Given the description of an element on the screen output the (x, y) to click on. 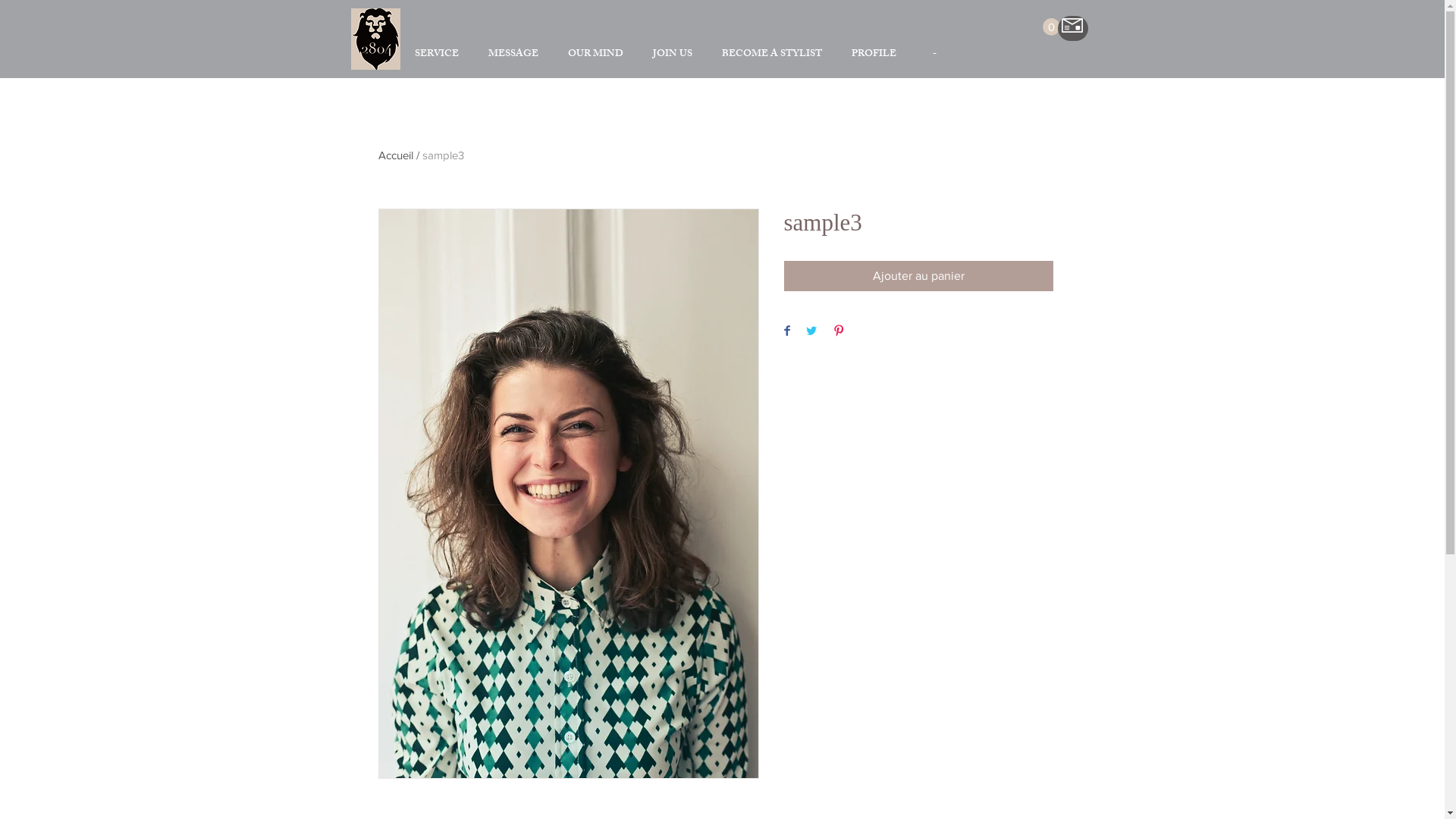
Accueil Element type: text (394, 154)
OUR MIND Element type: text (595, 54)
0 Element type: text (1050, 26)
Ajouter au panier Element type: text (918, 275)
sample3 Element type: text (442, 154)
SERVICE Element type: text (436, 54)
JOIN US Element type: text (672, 54)
BECOME A STYLIST Element type: text (771, 54)
MESSAGE Element type: text (512, 54)
PROFILE Element type: text (874, 54)
